Given the description of an element on the screen output the (x, y) to click on. 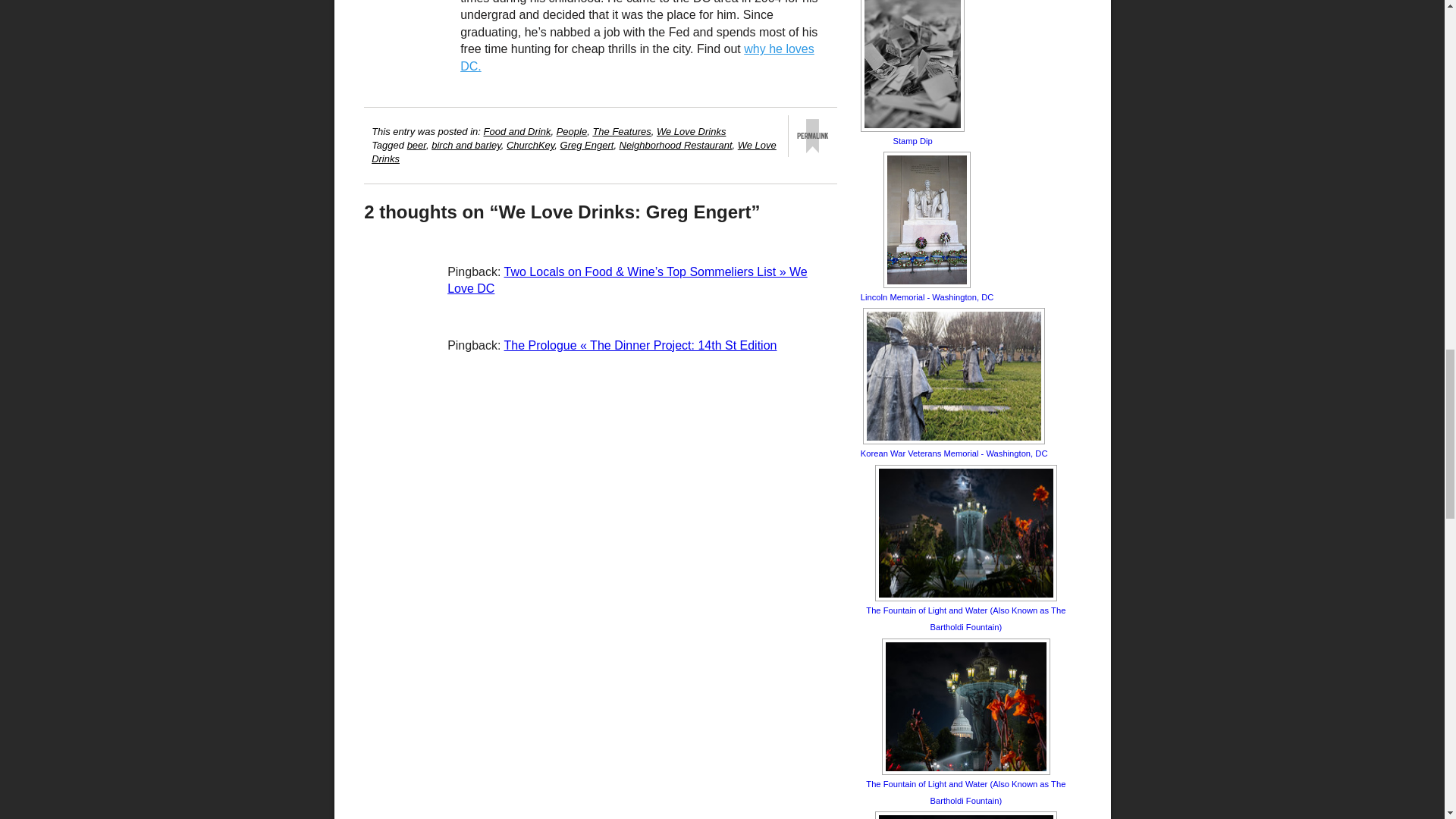
Greg Engert (587, 144)
Food and Drink (517, 131)
We Love Drinks (691, 131)
ChurchKey (530, 144)
The Features (621, 131)
beer (416, 144)
birch and barley (465, 144)
Neighborhood Restaurant (676, 144)
People (571, 131)
